Given the description of an element on the screen output the (x, y) to click on. 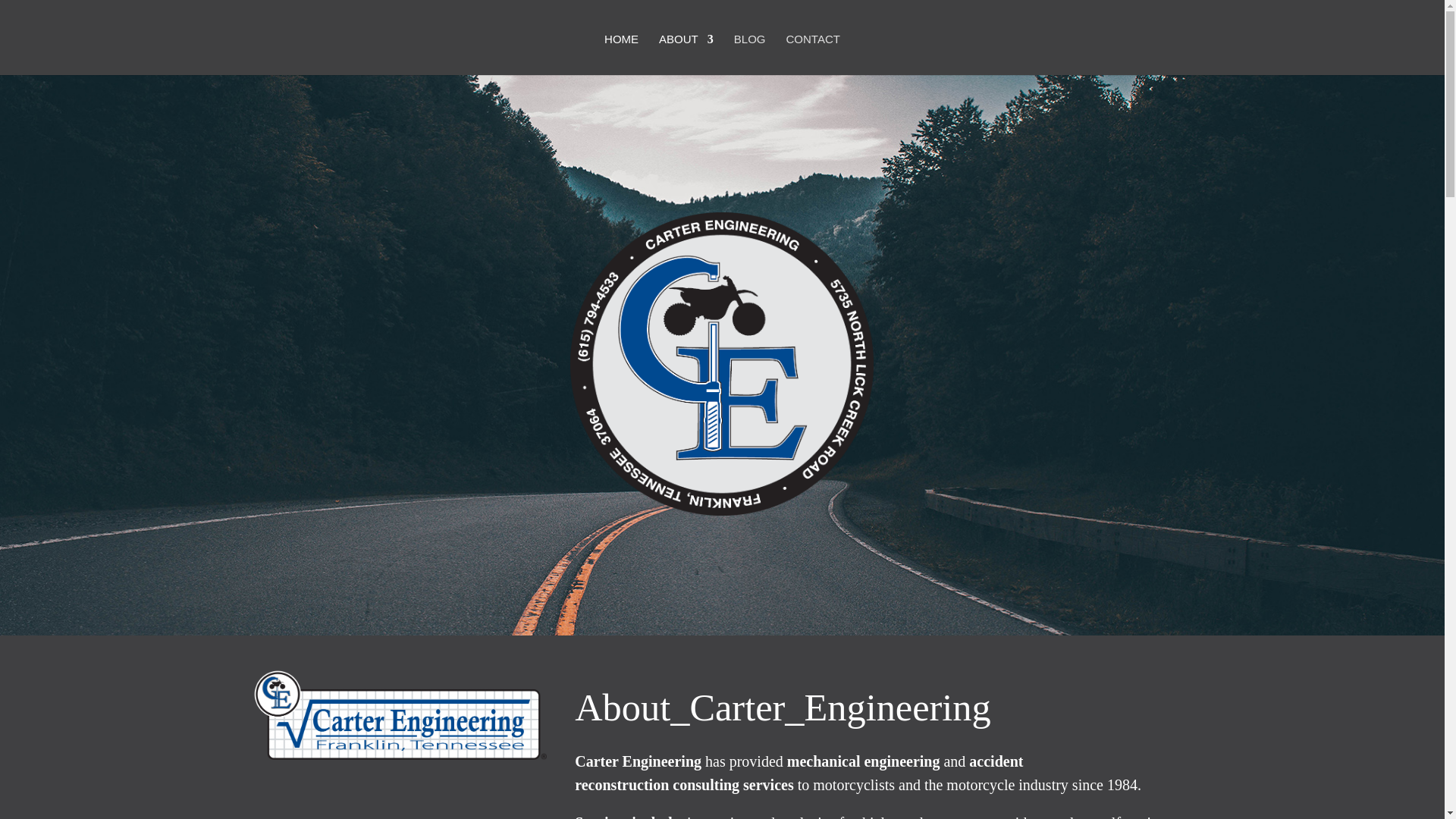
HOME (621, 54)
CONTACT (813, 54)
ABOUT (686, 54)
BLOG (749, 54)
